Given the description of an element on the screen output the (x, y) to click on. 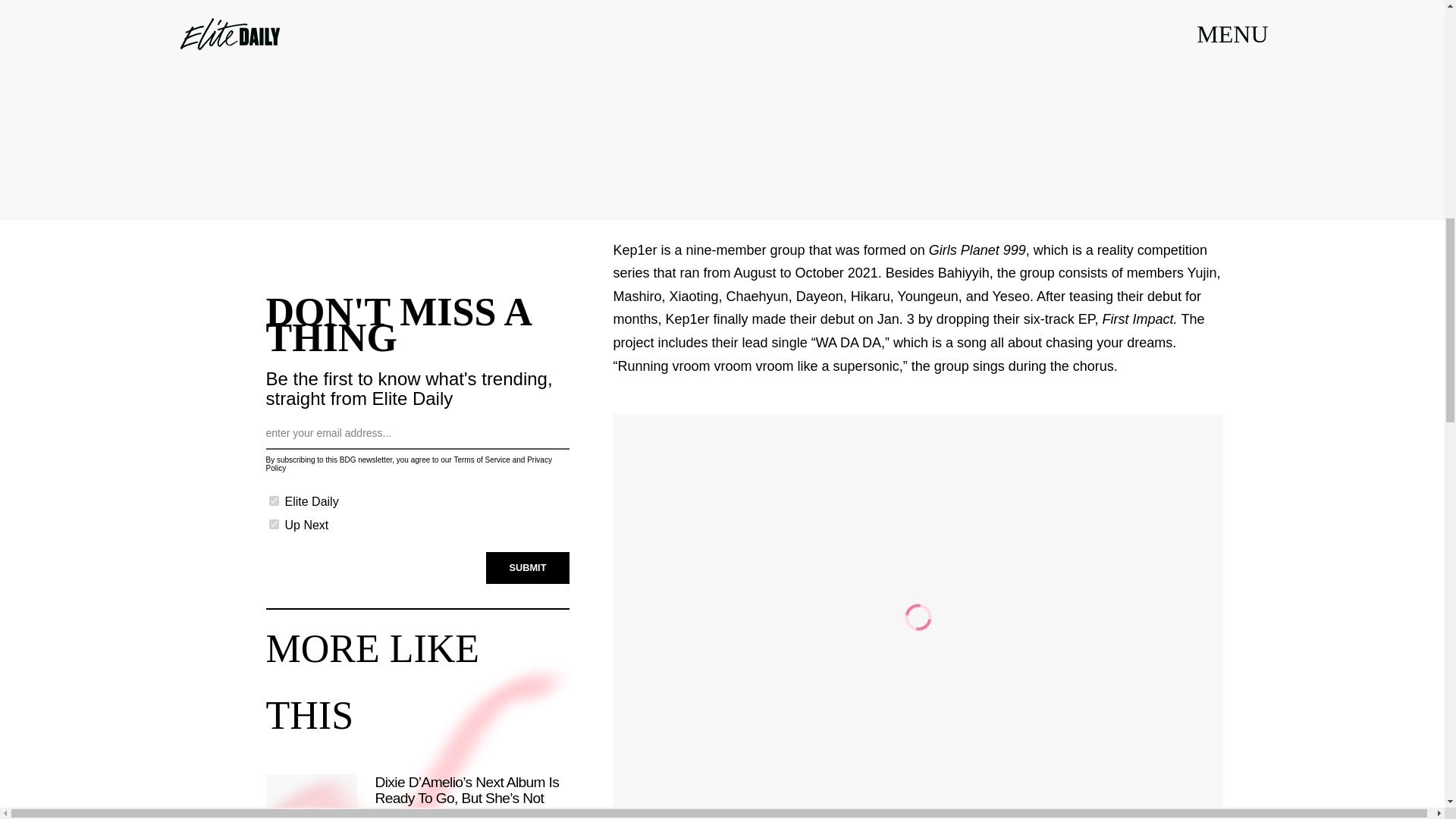
SUBMIT (527, 567)
Privacy Policy (407, 463)
Terms of Service (480, 459)
